Given the description of an element on the screen output the (x, y) to click on. 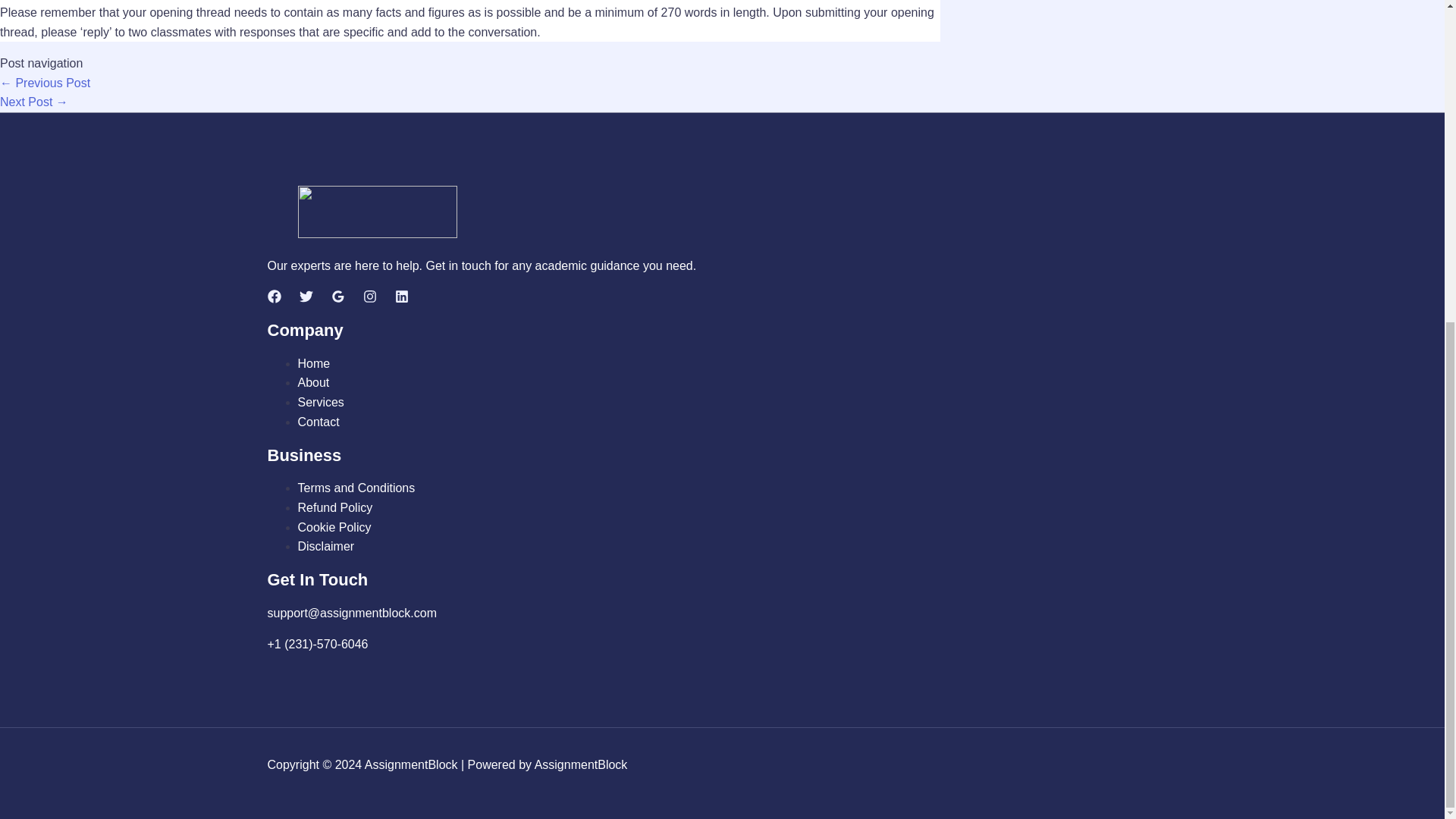
Services (320, 401)
Refund Policy (334, 507)
Google Reviews (336, 298)
Terms and Conditions (355, 487)
Disclaimer (325, 545)
Cookie Policy (334, 526)
Google Reviews (336, 296)
About (313, 382)
Home (313, 363)
Contact (318, 421)
